Given the description of an element on the screen output the (x, y) to click on. 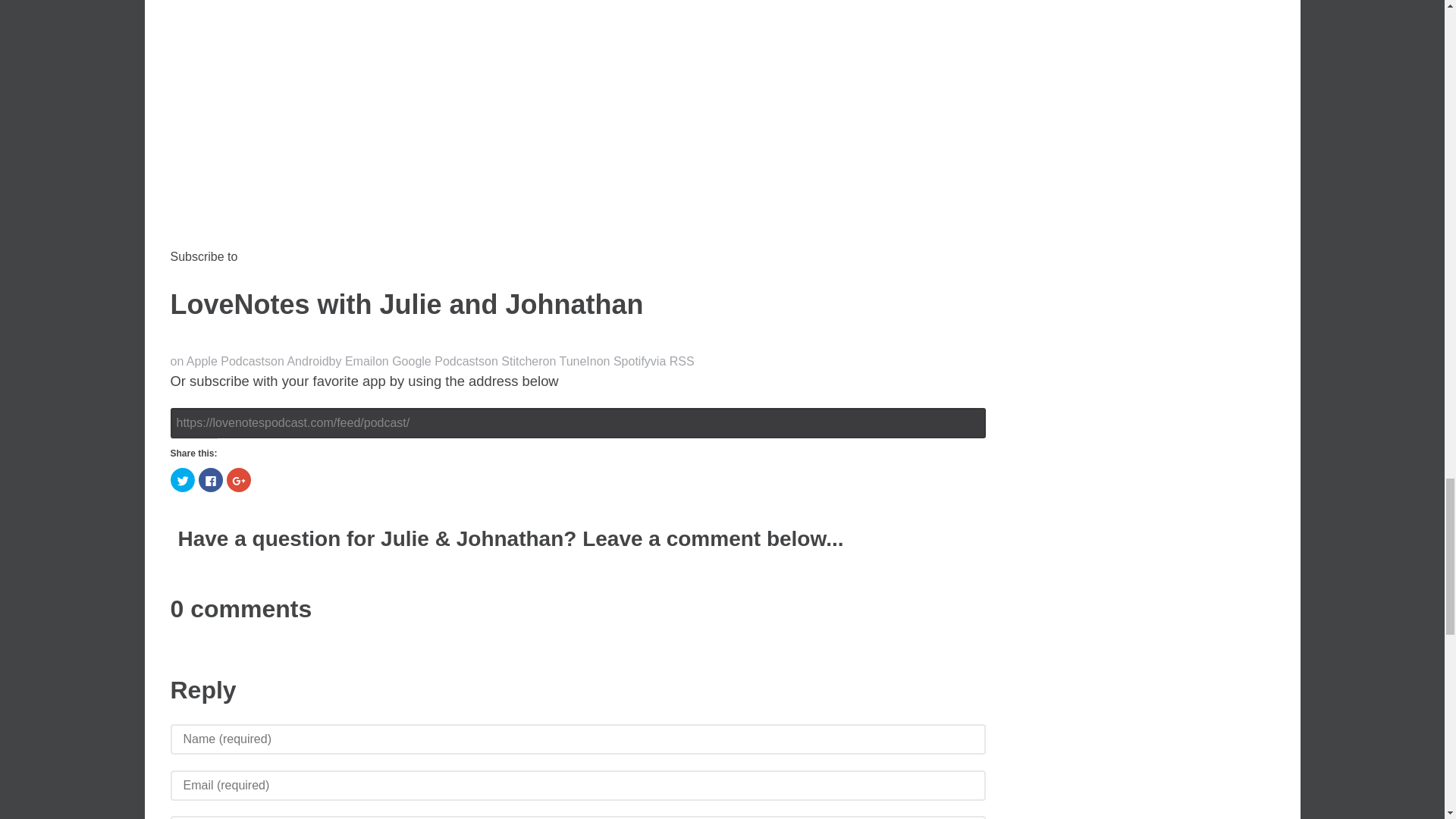
on Apple Podcasts (220, 360)
Subscribe on Android (299, 360)
Subscribe on Apple Podcasts (220, 360)
